Given the description of an element on the screen output the (x, y) to click on. 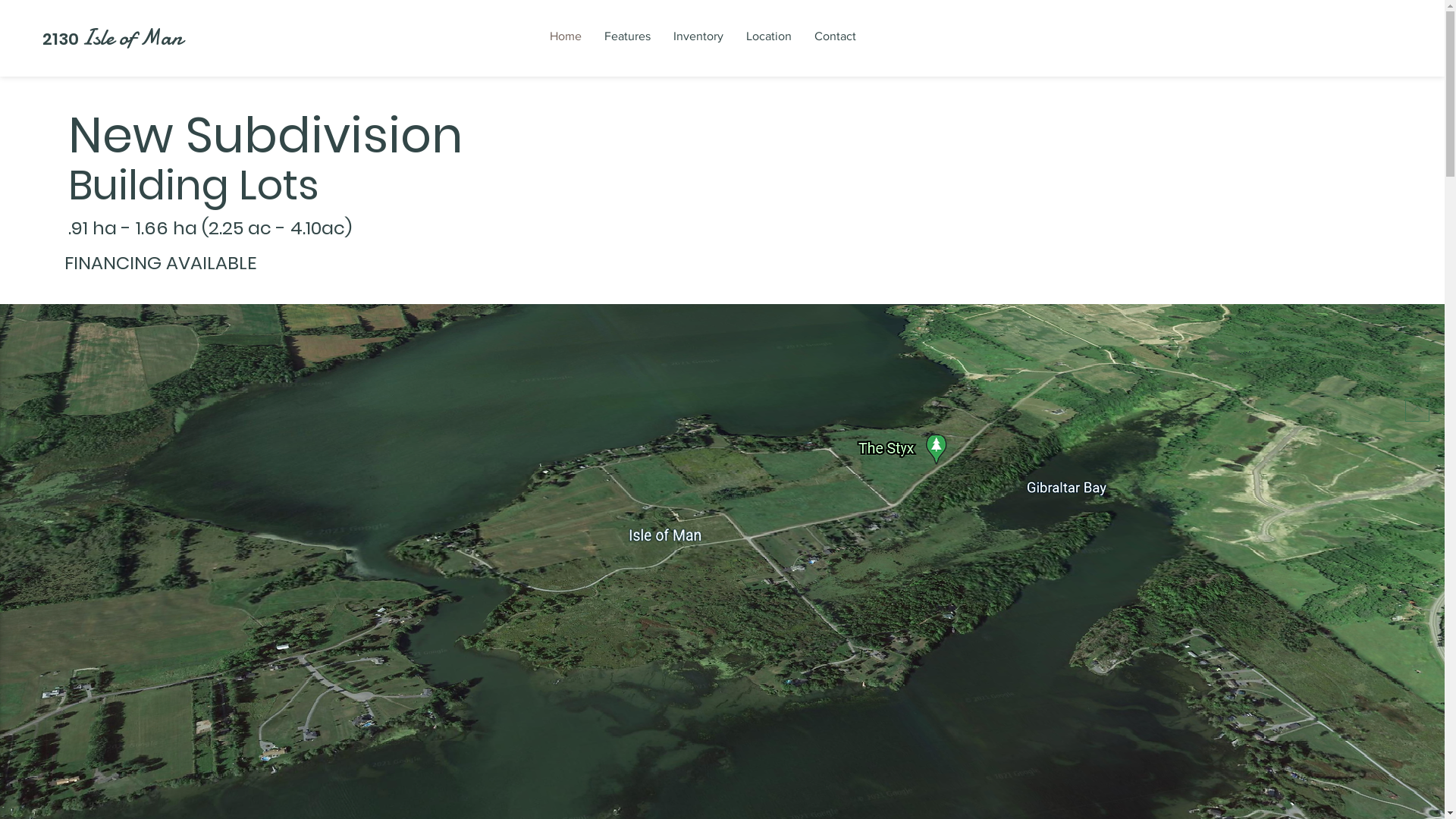
Home Element type: text (565, 36)
Features Element type: text (627, 36)
2130 Isle of Man Element type: text (112, 38)
Inventory Element type: text (698, 36)
Location Element type: text (768, 36)
Contact Element type: text (835, 36)
